Given the description of an element on the screen output the (x, y) to click on. 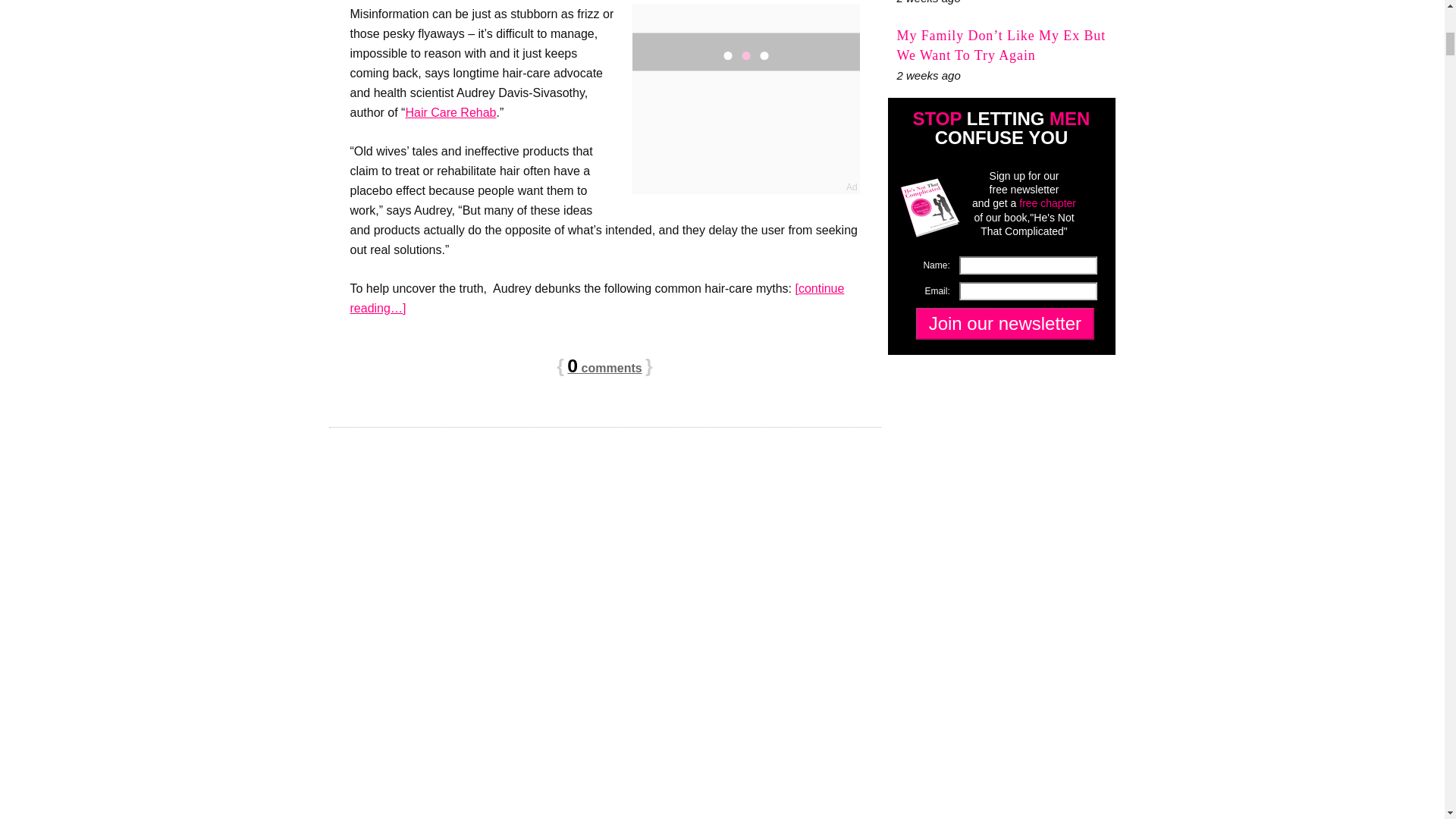
Hair Care Rehab (450, 112)
Join our newsletter (1004, 323)
0 comments (604, 367)
